Given the description of an element on the screen output the (x, y) to click on. 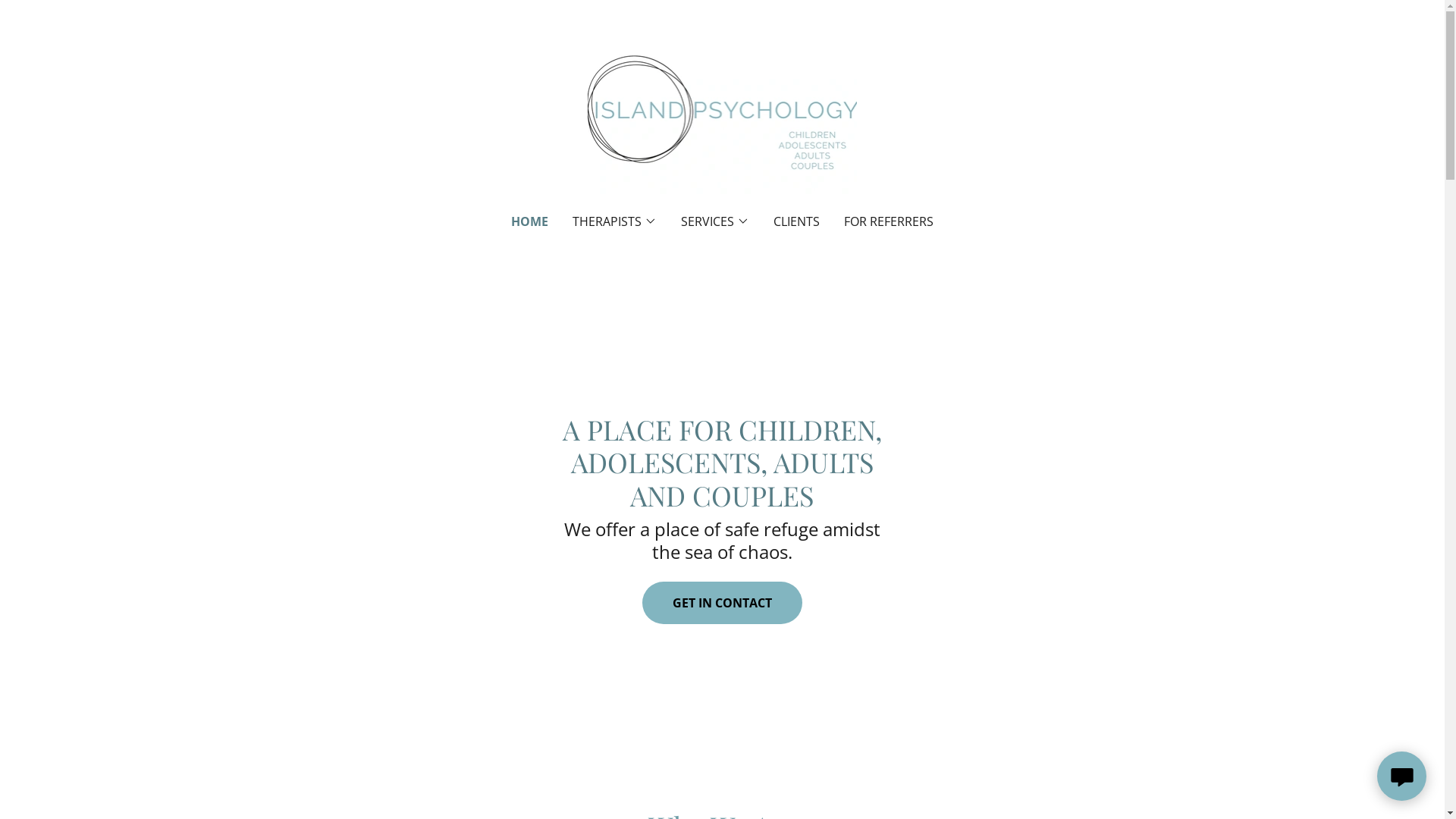
HOME Element type: text (529, 221)
Island Psychology Element type: hover (722, 116)
CLIENTS Element type: text (796, 221)
FOR REFERRERS Element type: text (888, 221)
THERAPISTS Element type: text (614, 221)
SERVICES Element type: text (714, 221)
GET IN CONTACT Element type: text (722, 602)
